Given the description of an element on the screen output the (x, y) to click on. 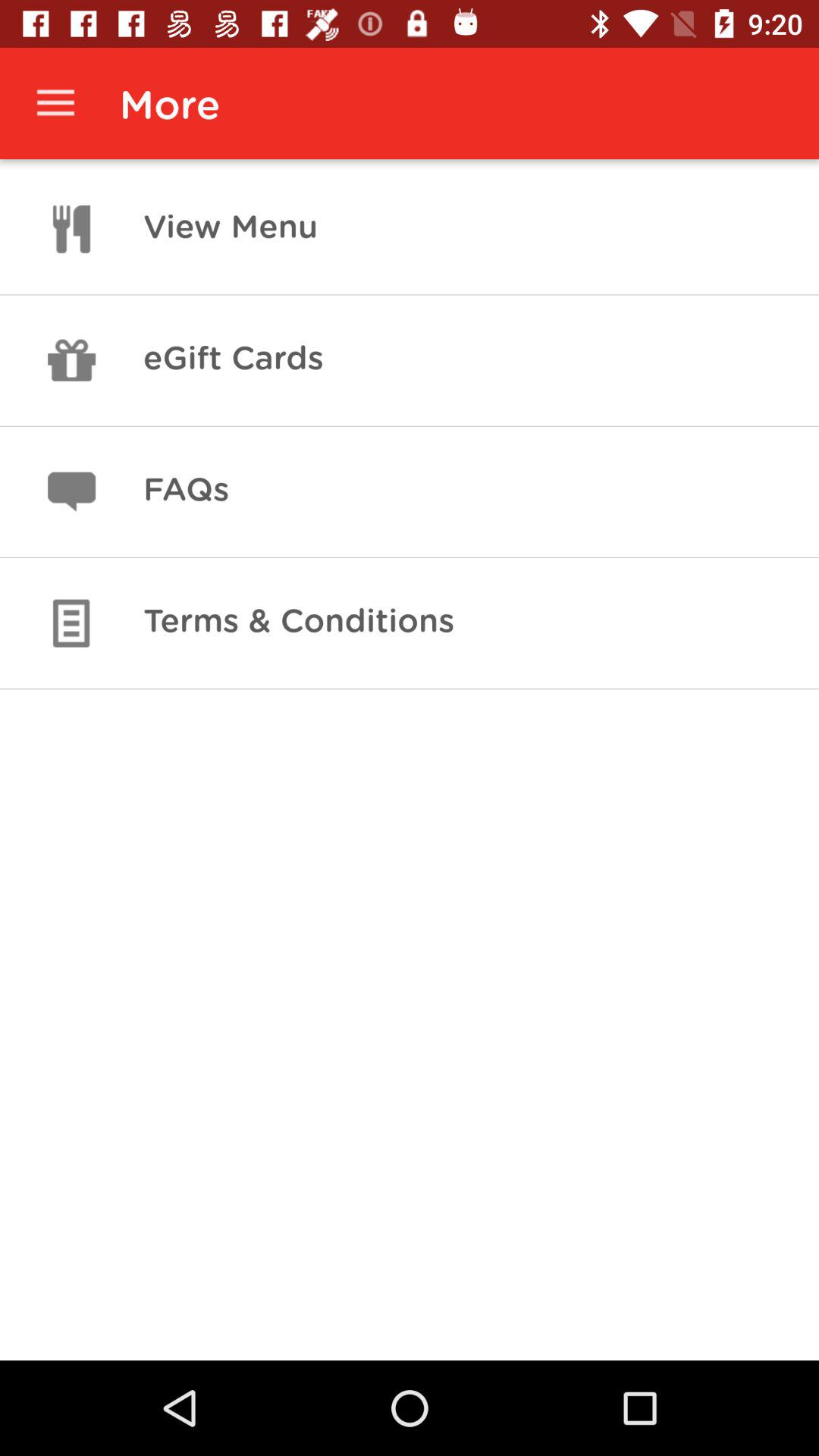
press the icon above the egift cards item (230, 228)
